Given the description of an element on the screen output the (x, y) to click on. 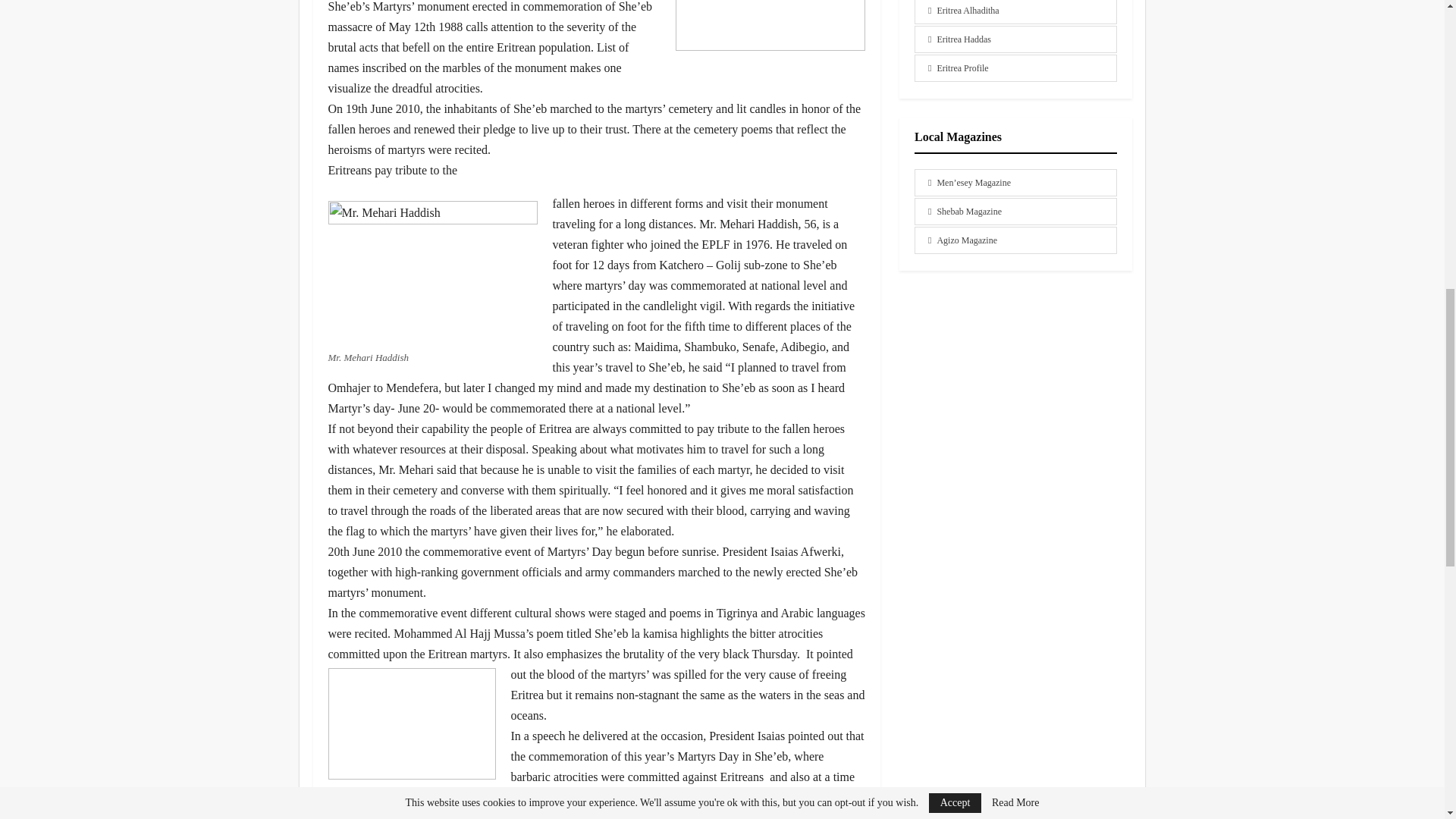
Mr. Mehari Haddish (432, 270)
